Given the description of an element on the screen output the (x, y) to click on. 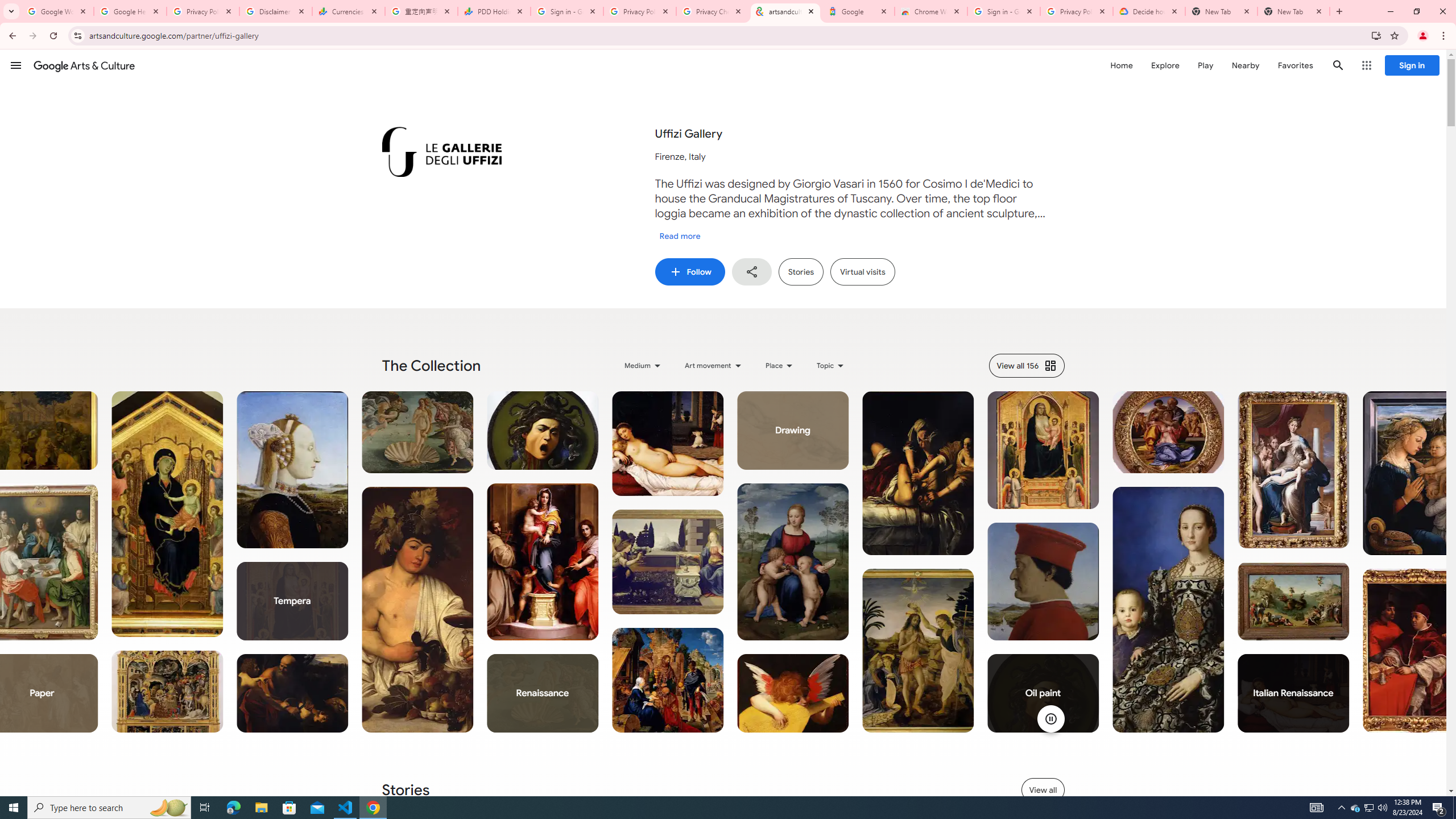
Currencies - Google Finance (348, 11)
Nearby (1244, 65)
Pause animation (1050, 718)
Google (857, 11)
Privacy Checkup (712, 11)
Chrome Web Store - Color themes by Chrome (930, 11)
Sign in - Google Accounts (566, 11)
Topic (831, 365)
